Given the description of an element on the screen output the (x, y) to click on. 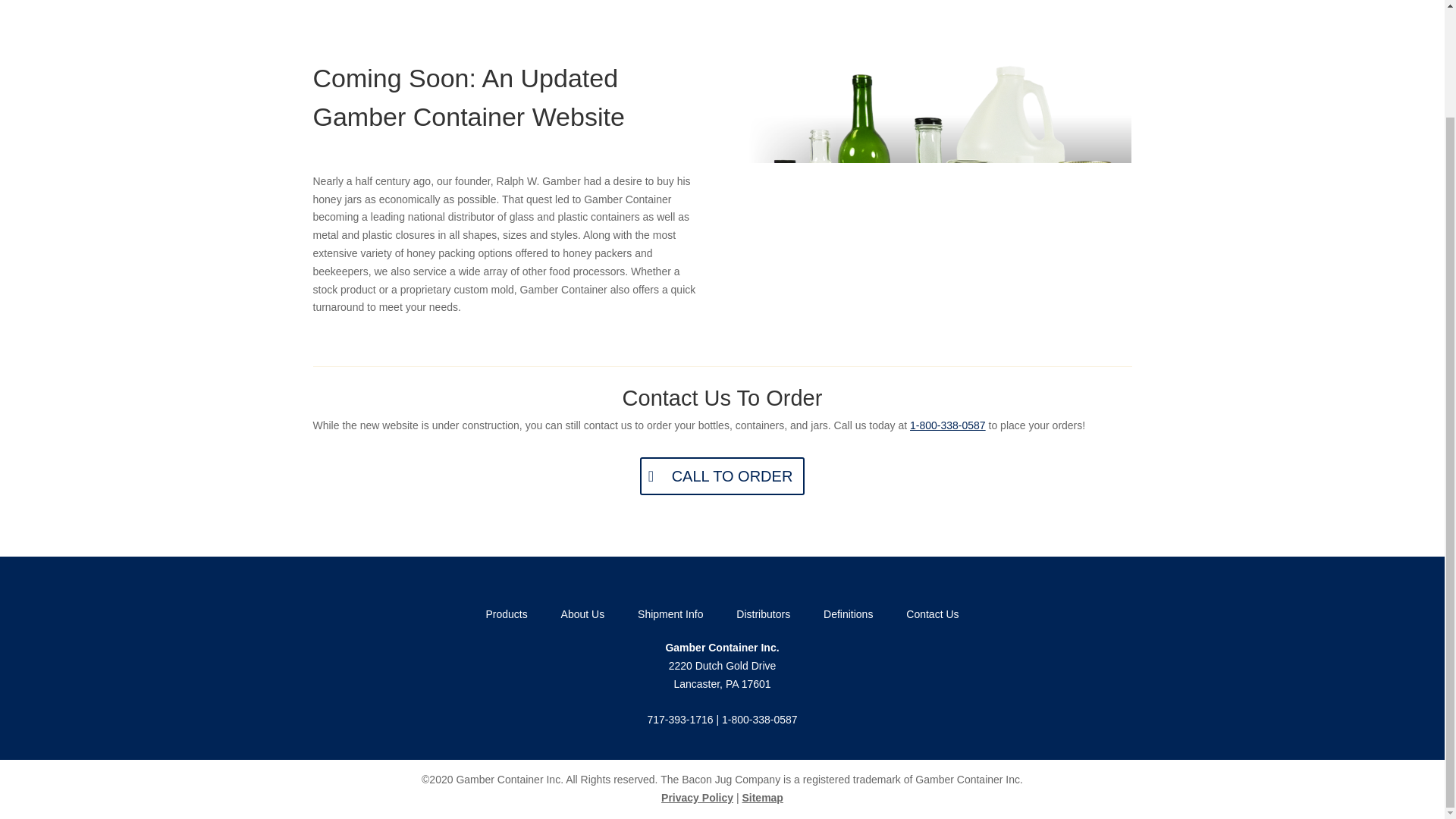
1-800-338-0587 (947, 425)
Definitions (848, 613)
Distributors (762, 613)
Contact Us (932, 613)
Shipment Info (670, 613)
717-393-1716 (679, 719)
CALL TO ORDER (722, 476)
About Us (583, 613)
Privacy Policy (697, 797)
Sitemap (762, 797)
Products (505, 613)
1-800-338-0587 (759, 719)
